Given the description of an element on the screen output the (x, y) to click on. 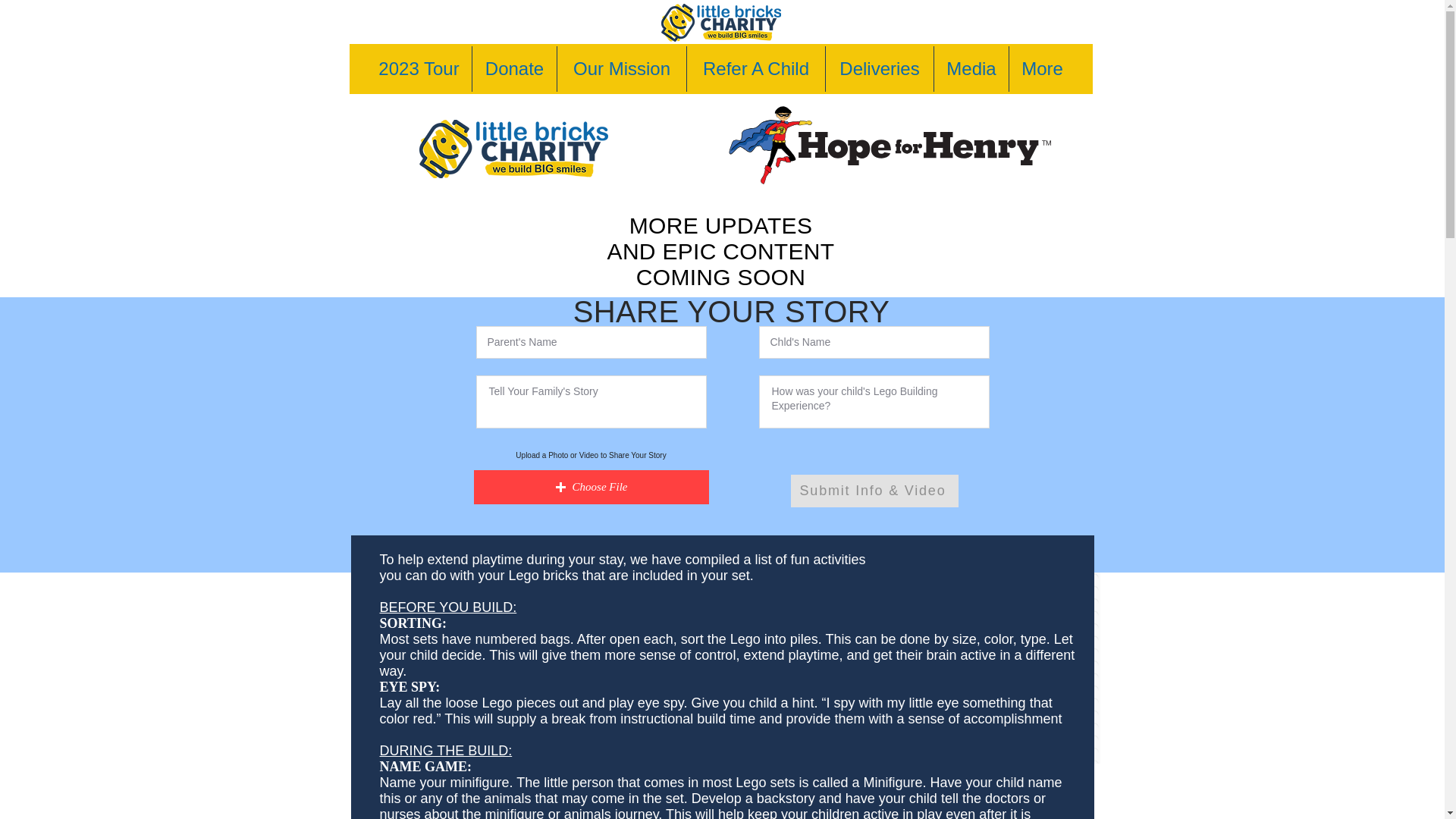
Refer A Child (756, 68)
Our Mission (621, 68)
Deliveries (879, 68)
Media (971, 68)
Donate (513, 68)
2023 Tour (418, 68)
